Given the description of an element on the screen output the (x, y) to click on. 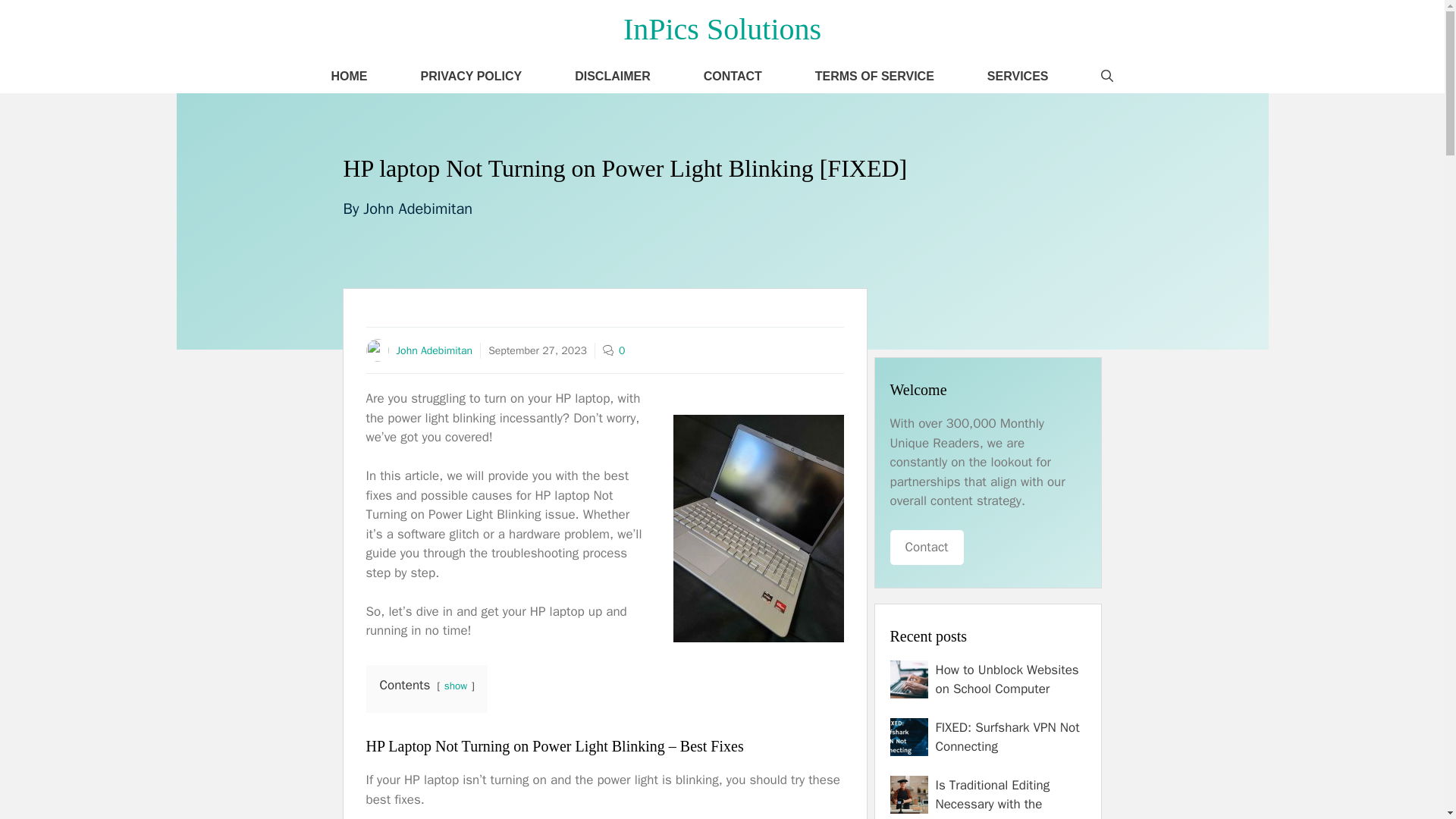
DISCLAIMER (612, 75)
InPics Solutions (722, 28)
HOME (349, 75)
show (455, 685)
TERMS OF SERVICE (874, 75)
SERVICES (1017, 75)
CONTACT (733, 75)
John Adebimitan (433, 350)
PRIVACY POLICY (471, 75)
John Adebimitan (416, 208)
